Given the description of an element on the screen output the (x, y) to click on. 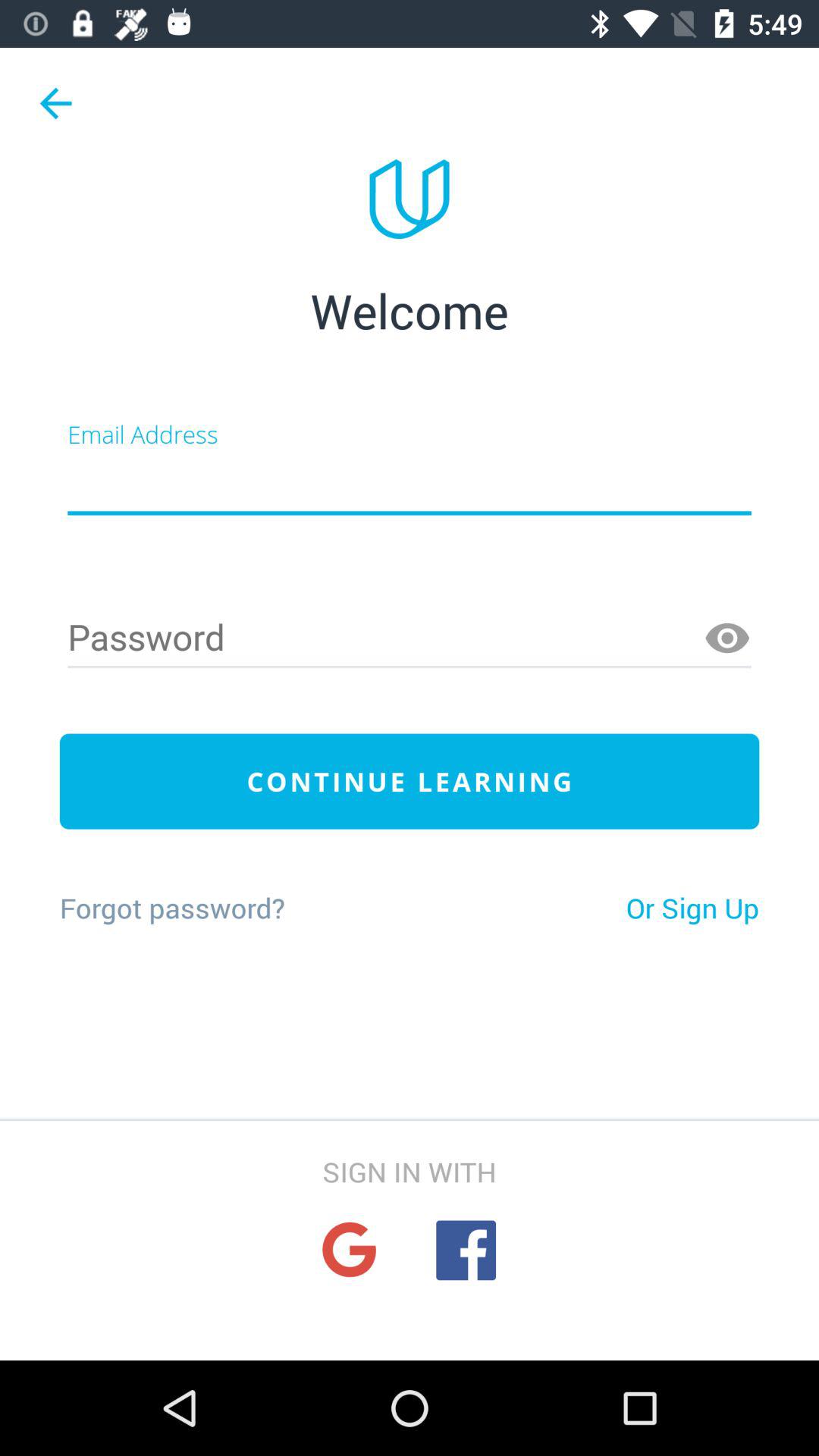
hide password (727, 638)
